Given the description of an element on the screen output the (x, y) to click on. 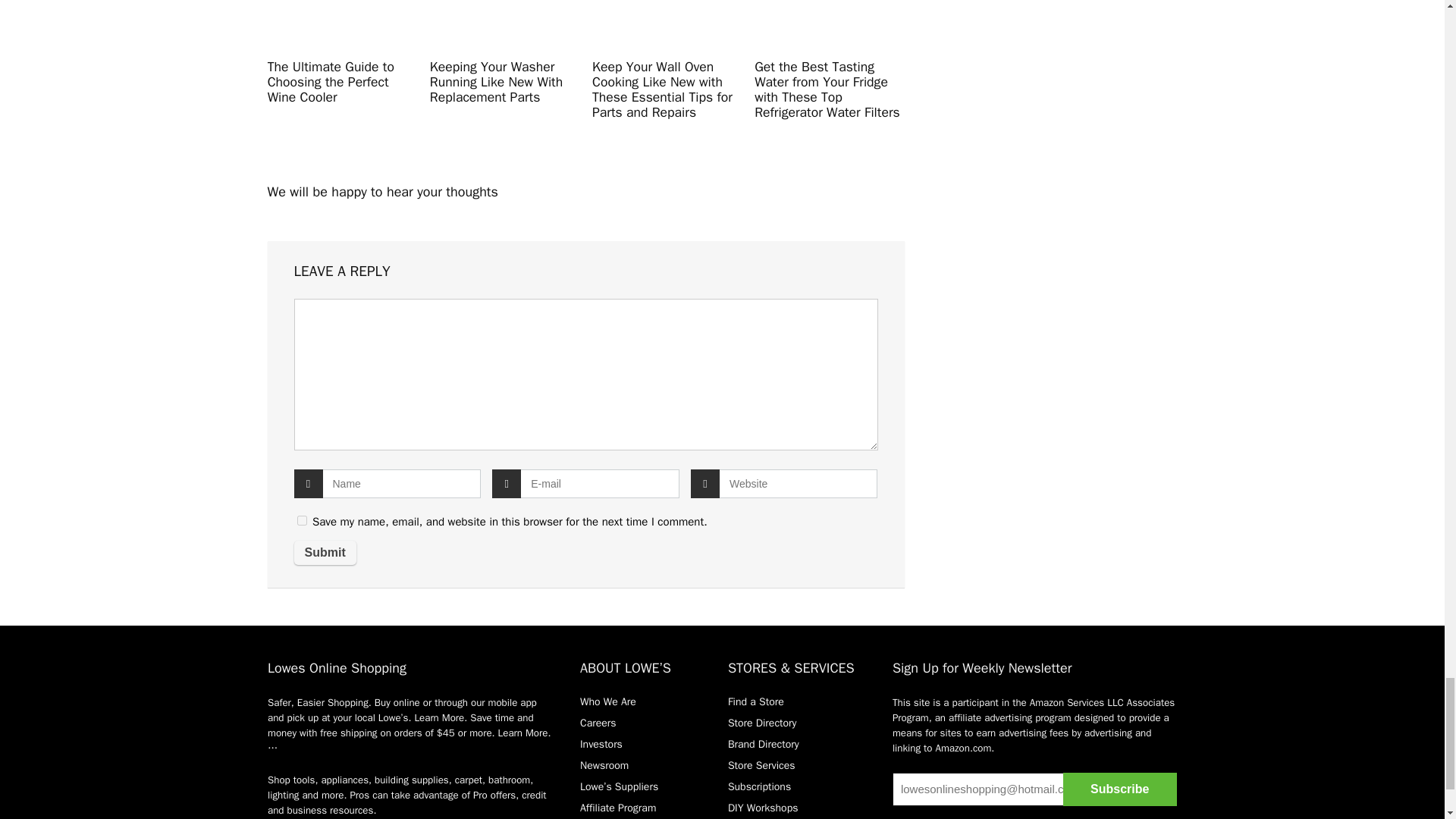
Subscribe (1119, 789)
yes (302, 520)
The Ultimate Guide to Choosing the Perfect Wine Cooler (330, 81)
Submit (325, 552)
Keeping Your Washer Running Like New With Replacement Parts (495, 81)
Submit (325, 552)
